Given the description of an element on the screen output the (x, y) to click on. 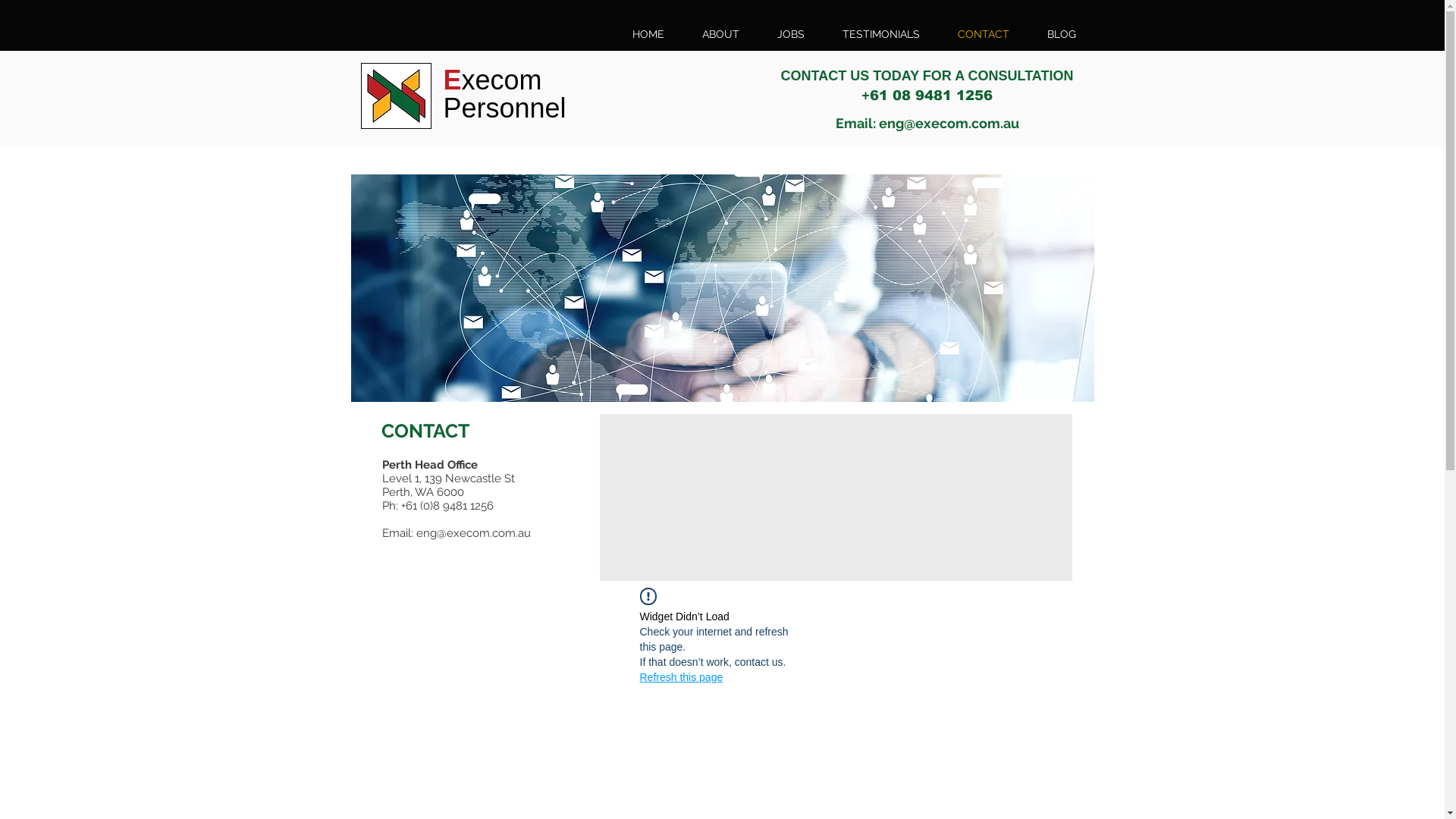
Personnel Element type: text (503, 107)
Refresh this page Element type: text (681, 676)
Email: eng@execom.com.au Element type: text (456, 532)
ExecomPersonnel-Logo-Web.jpg Element type: hover (395, 95)
TESTIMONIALS Element type: text (880, 33)
Execom_Contact_380621455.jpg Element type: hover (721, 287)
Execom Element type: text (491, 78)
HOME Element type: text (647, 33)
JOBS Element type: text (790, 33)
ABOUT Element type: text (719, 33)
Google Maps Element type: hover (835, 497)
BLOG Element type: text (1061, 33)
Email: eng@execom.com.au Element type: text (927, 123)
CONTACT Element type: text (983, 33)
